Given the description of an element on the screen output the (x, y) to click on. 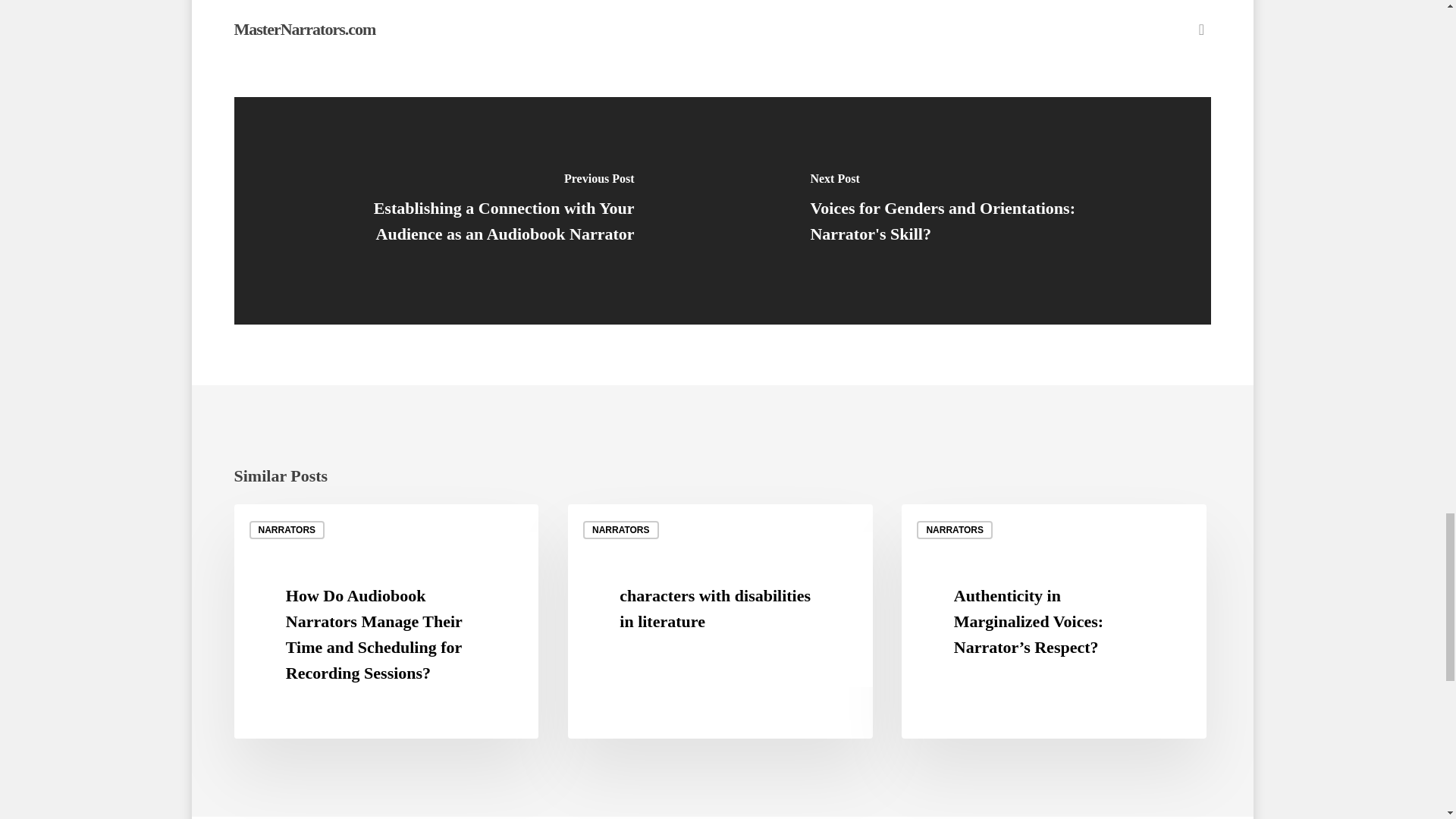
NARRATORS (954, 529)
NARRATORS (621, 529)
NARRATORS (286, 529)
